Given the description of an element on the screen output the (x, y) to click on. 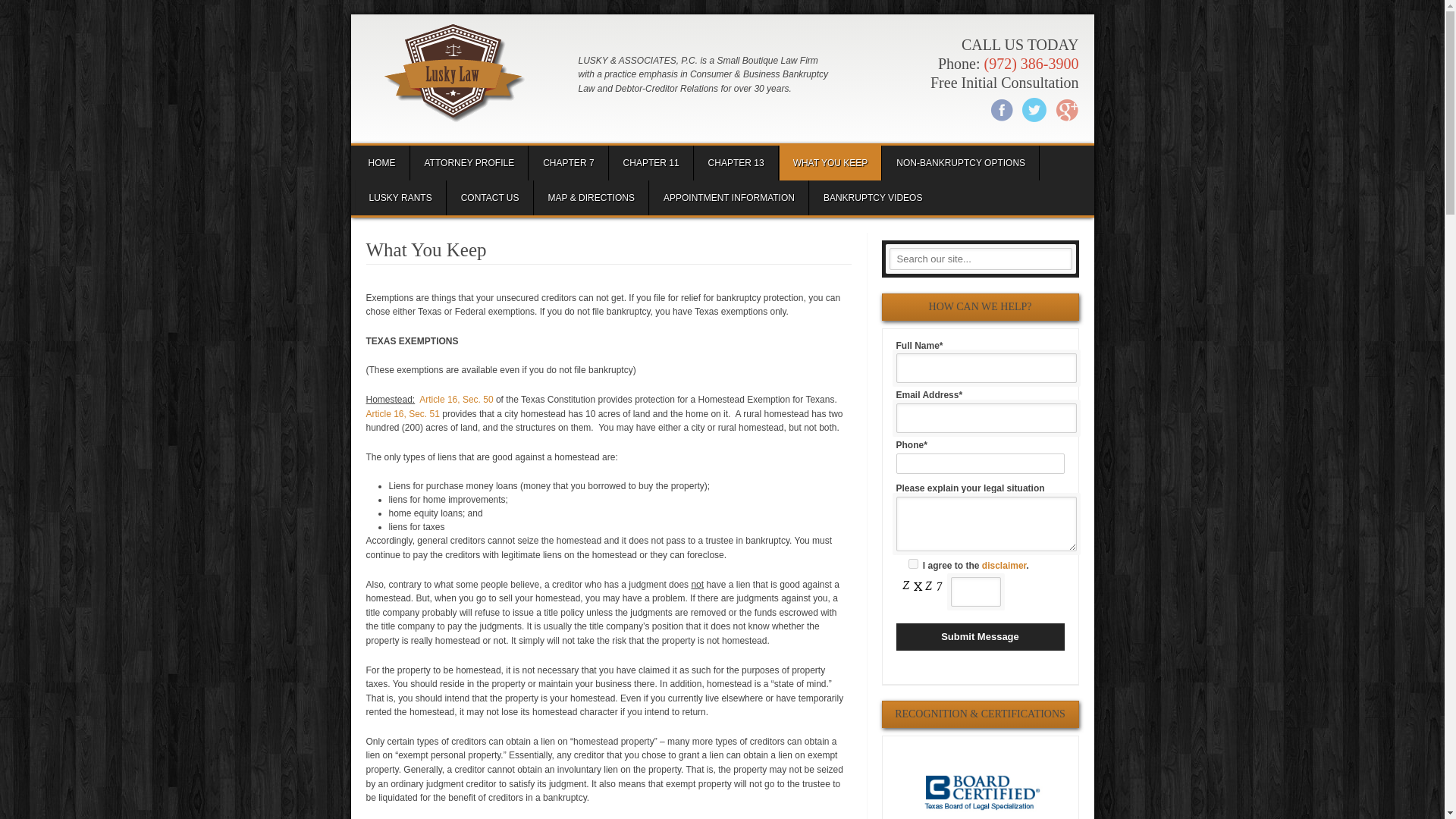
CHAPTER 13 (736, 162)
Contact Us (490, 197)
Submit Message (980, 636)
CHAPTER 11 (651, 162)
Texas Board Legal Specialization (980, 791)
Submit Message (980, 636)
APPOINTMENT INFORMATION (729, 197)
Out of Court (960, 162)
BANKRUPTCY VIDEOS (872, 197)
ATTORNEY PROFILE (468, 162)
1 (913, 563)
NON-BANKRUPTCY OPTIONS (960, 162)
HOME (382, 162)
CONTACT US (490, 197)
CHAPTER 7 (568, 162)
